Given the description of an element on the screen output the (x, y) to click on. 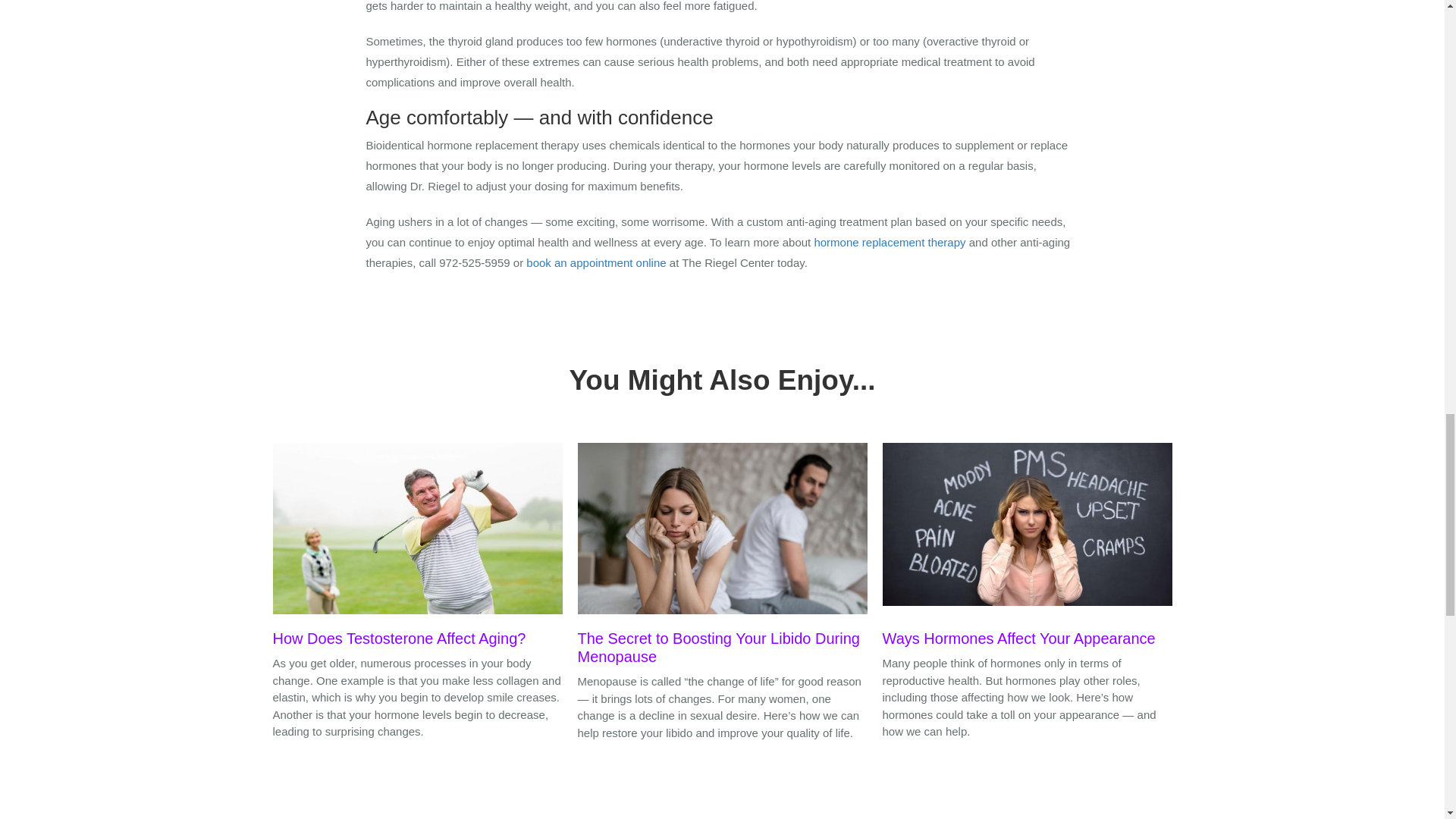
book an appointment online (595, 262)
How Does Testosterone Affect Aging? (417, 549)
The Secret to Boosting Your Libido During Menopause (722, 558)
hormone replacement therapy (889, 241)
